Given the description of an element on the screen output the (x, y) to click on. 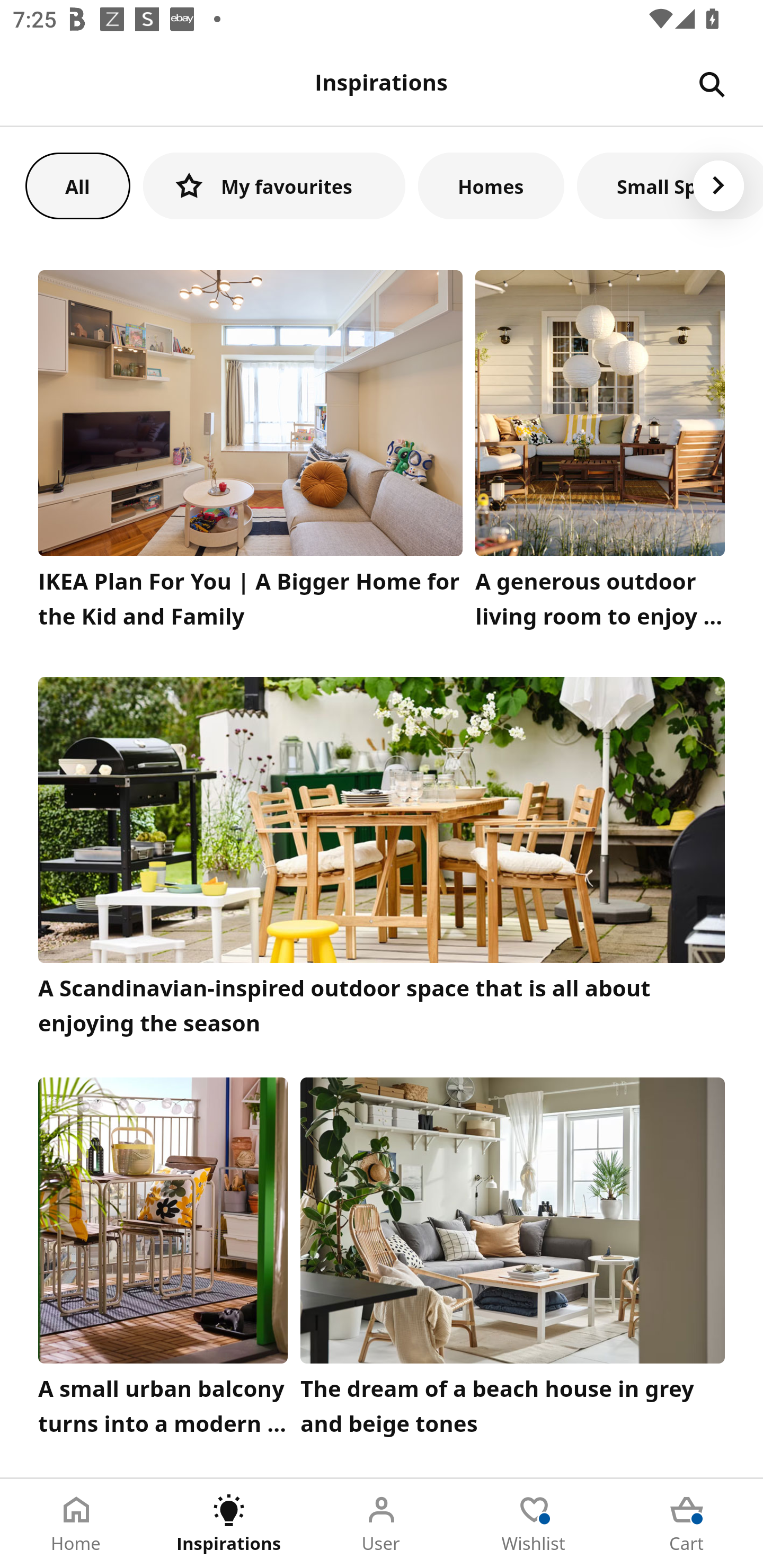
All (77, 185)
My favourites (274, 185)
Homes (491, 185)
The dream of a beach house in grey and beige tones (512, 1261)
Home
Tab 1 of 5 (76, 1522)
Inspirations
Tab 2 of 5 (228, 1522)
User
Tab 3 of 5 (381, 1522)
Wishlist
Tab 4 of 5 (533, 1522)
Cart
Tab 5 of 5 (686, 1522)
